Given the description of an element on the screen output the (x, y) to click on. 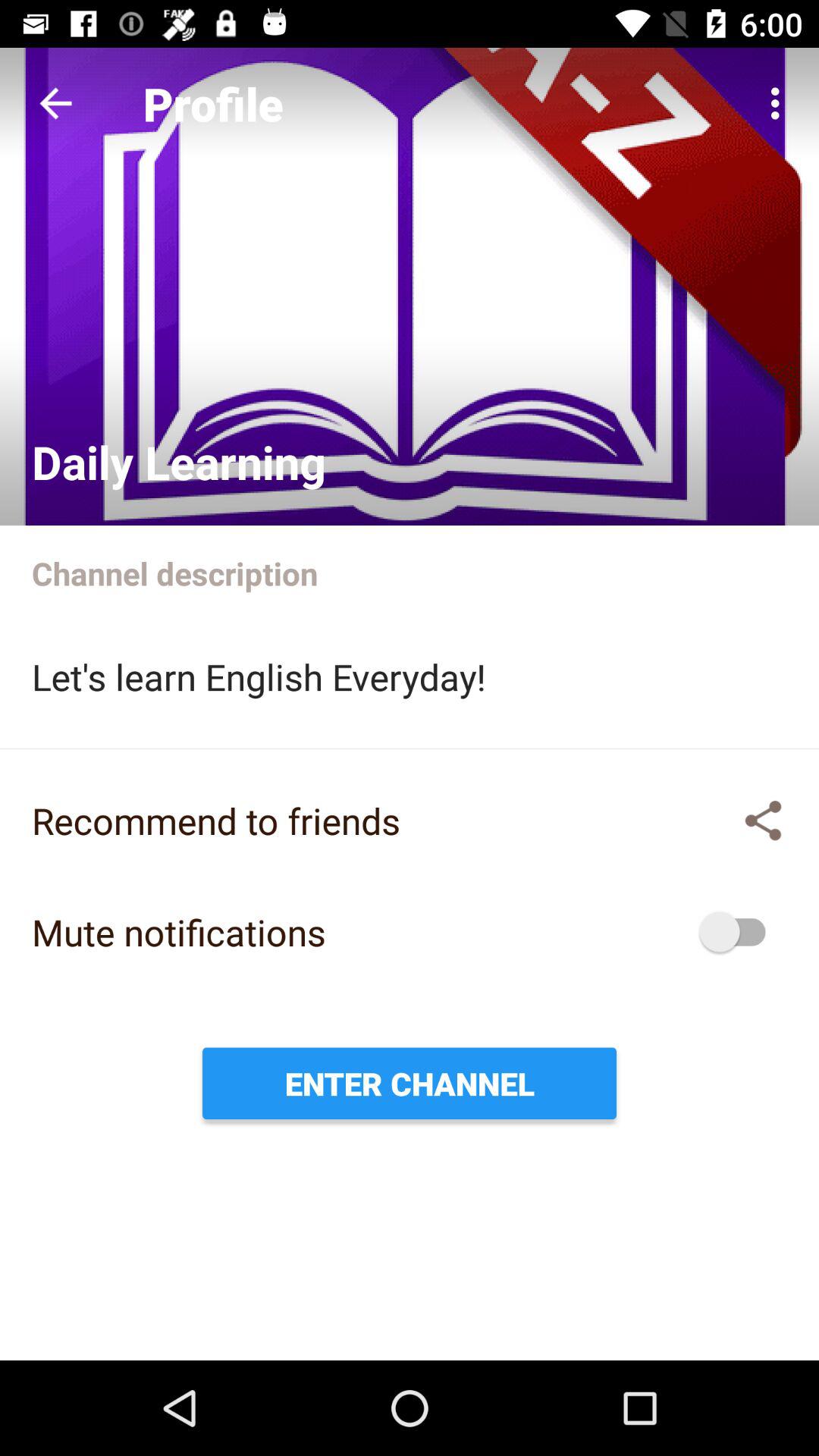
go back (55, 103)
